Given the description of an element on the screen output the (x, y) to click on. 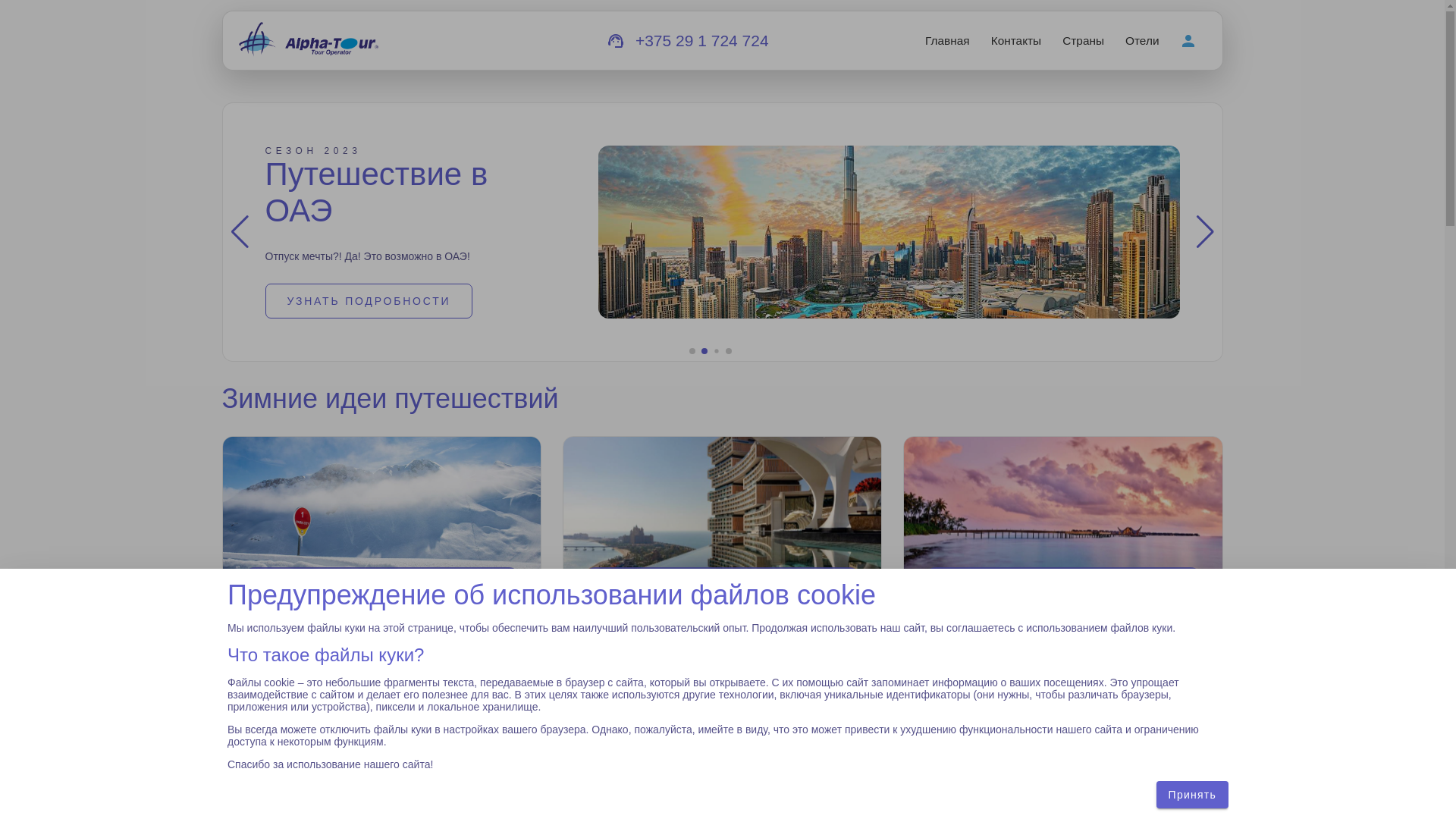
+375 29 1 724 724 Element type: text (701, 40)
person Element type: text (1187, 40)
